Given the description of an element on the screen output the (x, y) to click on. 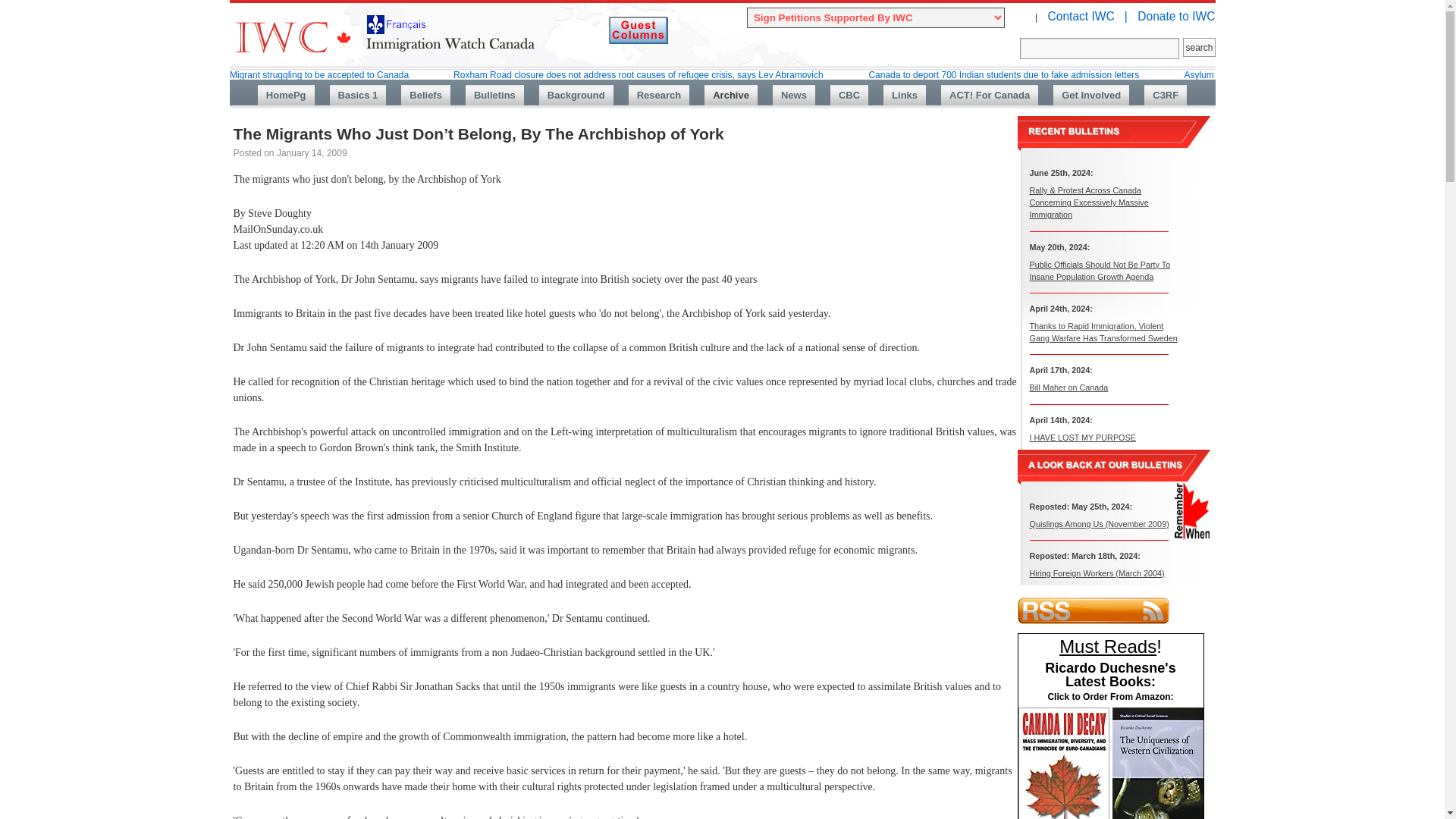
Asylum seekers rejected by Canada end up stranded in U.S (1304, 74)
Canadians Citizens For Charter Rights and Freedoms (1165, 95)
Permanent Link to Bill Maher on Canada (1068, 387)
search (1198, 46)
Donate to IWC (1175, 15)
Search (1099, 47)
Permanent Link to I HAVE LOST MY PURPOSE (1082, 436)
search (1198, 46)
Migrant struggling to be accepted to Canada (319, 74)
